Given the description of an element on the screen output the (x, y) to click on. 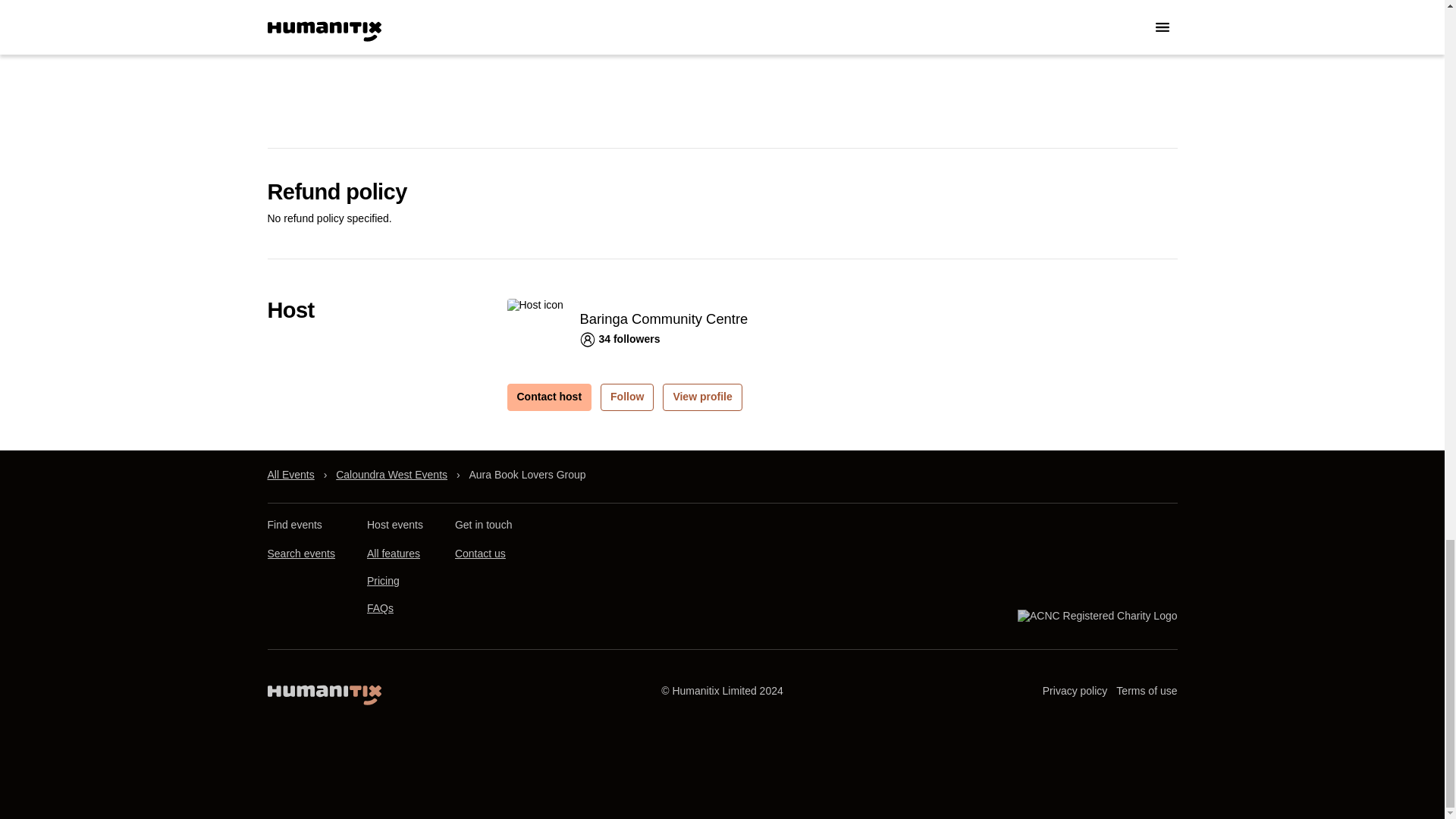
Contact host (548, 397)
Follow (626, 397)
View profile (701, 397)
